Given the description of an element on the screen output the (x, y) to click on. 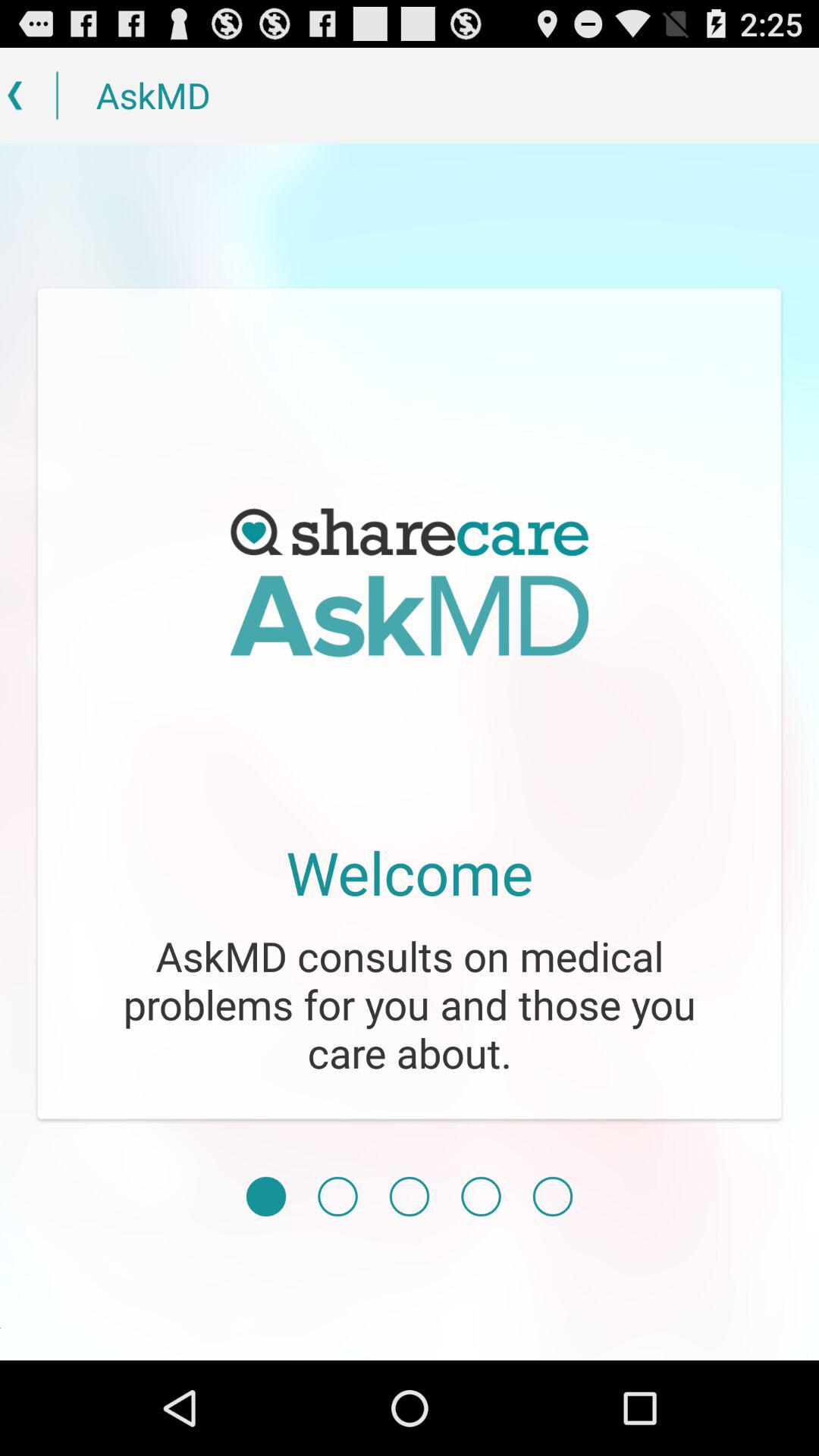
select item below askmd consults on (266, 1196)
